Given the description of an element on the screen output the (x, y) to click on. 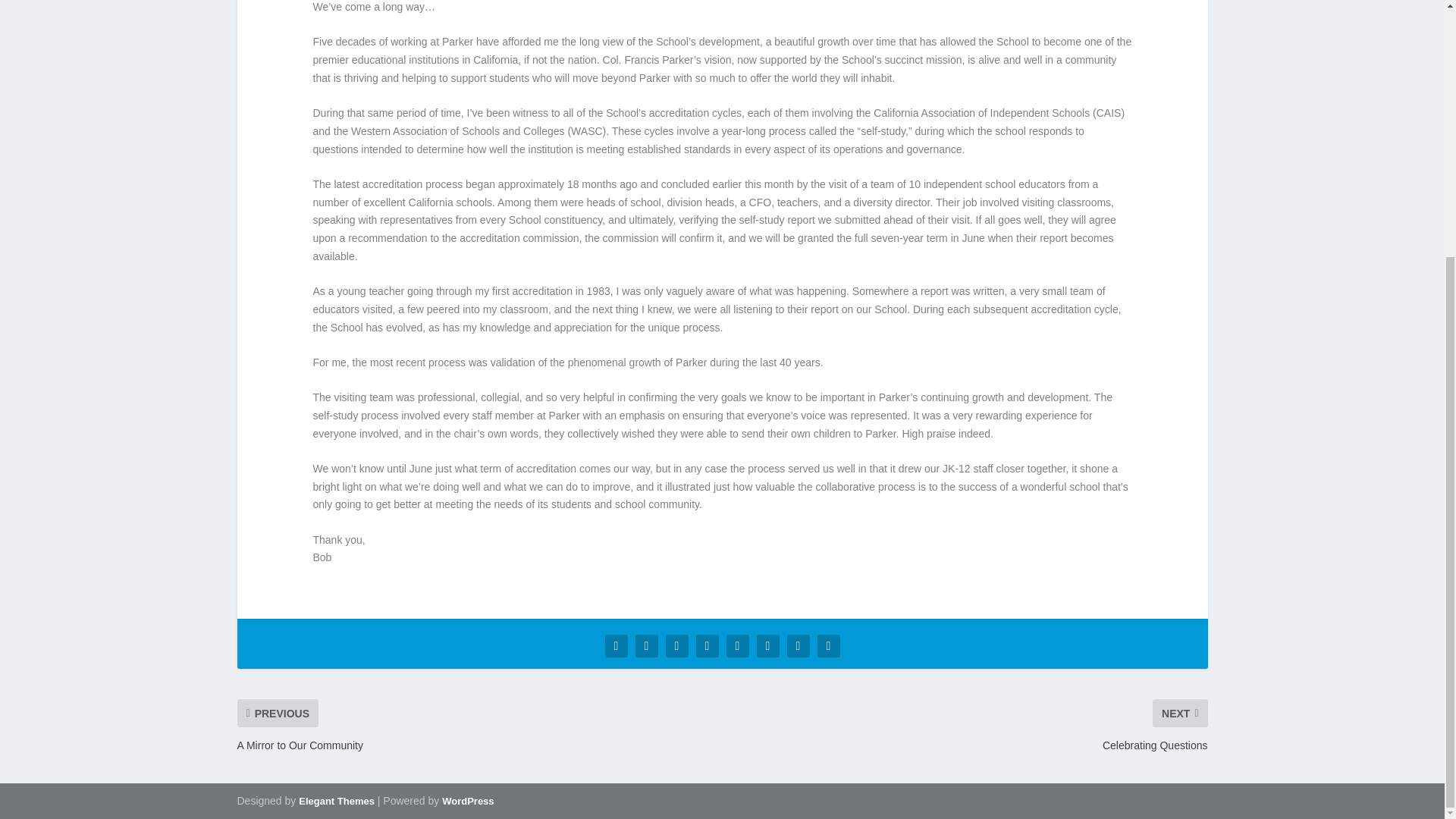
Premium WordPress Themes (336, 800)
Elegant Themes (336, 800)
Share "Growth Through Reflection" via Print (827, 645)
Share "Growth Through Reflection" via Stumbleupon (767, 645)
Share "Growth Through Reflection" via Pinterest (706, 645)
Share "Growth Through Reflection" via Facebook (614, 645)
Share "Growth Through Reflection" via LinkedIn (737, 645)
WordPress (467, 800)
Share "Growth Through Reflection" via Email (797, 645)
Share "Growth Through Reflection" via Twitter (645, 645)
